Given the description of an element on the screen output the (x, y) to click on. 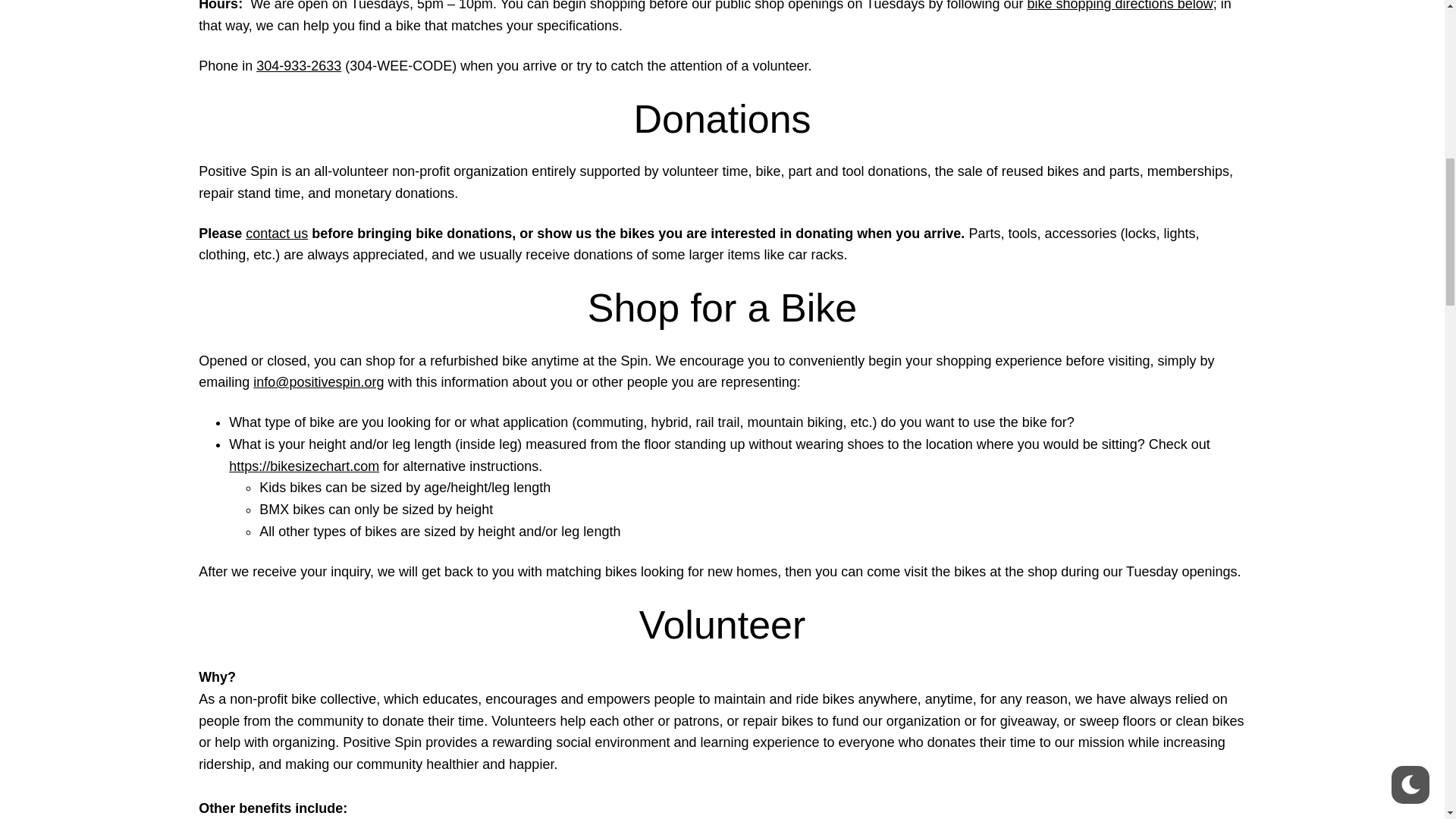
304-933-2633 (298, 65)
bike shopping directions below (1119, 5)
contact us (276, 233)
